Given the description of an element on the screen output the (x, y) to click on. 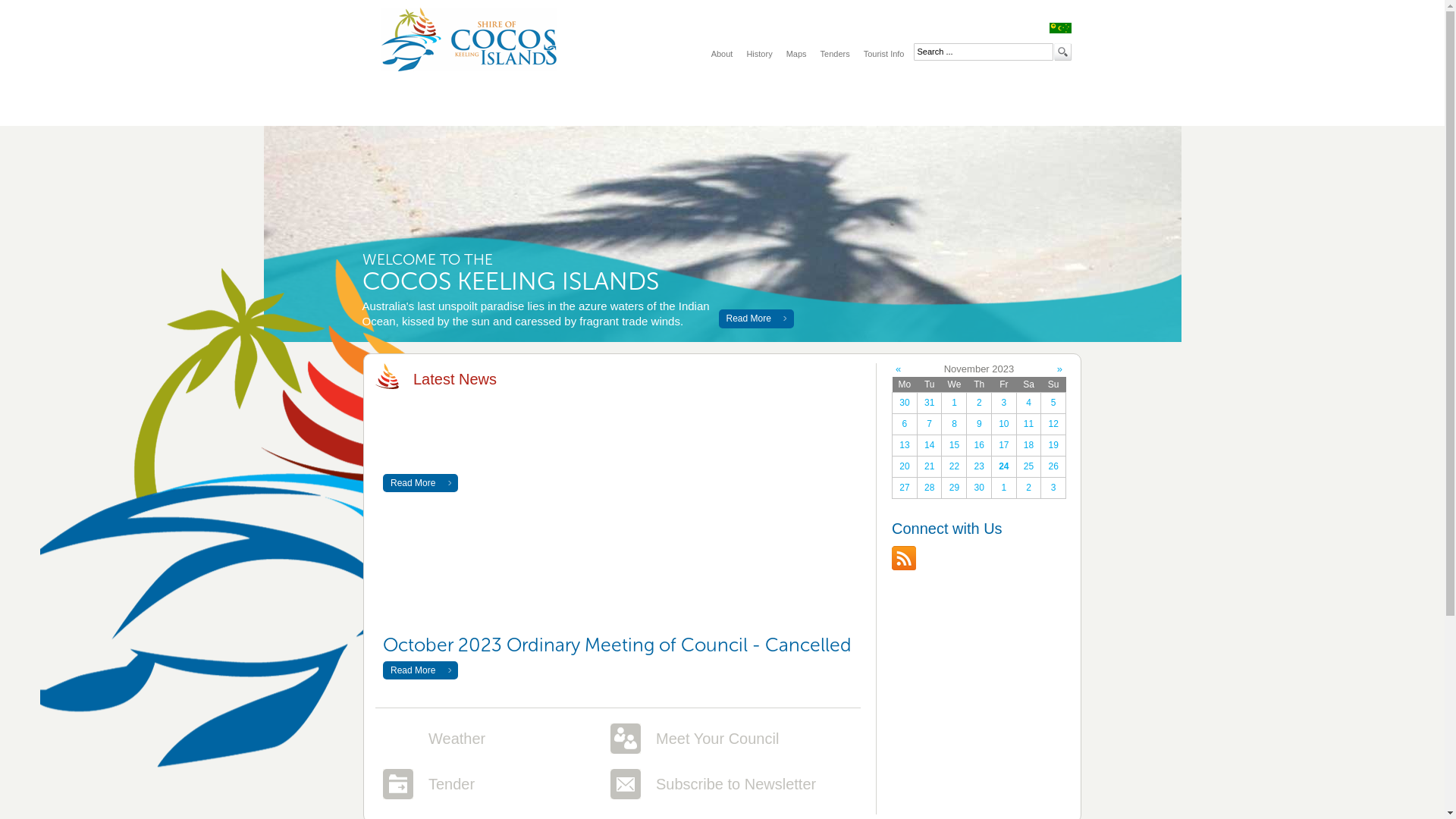
6 Element type: text (904, 424)
Tender Element type: text (451, 783)
Maps Element type: text (796, 53)
2 Element type: text (978, 402)
Read More Element type: text (420, 670)
27 Element type: text (904, 487)
12 Element type: text (1053, 424)
28 Element type: text (929, 487)
Tourist Info Element type: text (883, 53)
About Element type: text (722, 53)
22 Element type: text (953, 466)
Services Element type: text (612, 104)
RSS Element type: text (903, 558)
7 Element type: text (929, 424)
11 Element type: text (1028, 424)
3 Element type: text (1053, 487)
30 Element type: text (904, 402)
17 Element type: text (1003, 445)
5 Element type: text (1053, 402)
24 Element type: text (1003, 466)
16 Element type: text (978, 445)
19 Element type: text (1053, 445)
25 Element type: text (1028, 466)
CKI COVID-19 Element type: text (1009, 104)
14 Element type: text (929, 445)
2 Element type: text (1028, 487)
10 Element type: text (1003, 424)
15 Element type: text (953, 445)
Meet Your Council Element type: text (716, 738)
Tenders Element type: text (835, 53)
9 Element type: text (978, 424)
3 Element type: text (1003, 402)
1 Element type: text (953, 402)
Home Element type: text (413, 104)
Read More Element type: text (755, 319)
31 Element type: text (929, 402)
Weather Element type: text (456, 738)
1 Element type: text (1003, 487)
21 Element type: text (929, 466)
20 Element type: text (904, 466)
Contact Us Element type: text (911, 104)
Subscribe to Newsletter Element type: text (735, 783)
History Element type: text (758, 53)
8 Element type: text (953, 424)
13 Element type: text (904, 445)
Your Community Element type: text (712, 104)
23 Element type: text (978, 466)
18 Element type: text (1028, 445)
Read More Element type: text (420, 482)
Latest News Element type: text (810, 104)
4 Element type: text (1028, 402)
Your Council Element type: text (513, 104)
26 Element type: text (1053, 466)
30 Element type: text (978, 487)
29 Element type: text (953, 487)
